Given the description of an element on the screen output the (x, y) to click on. 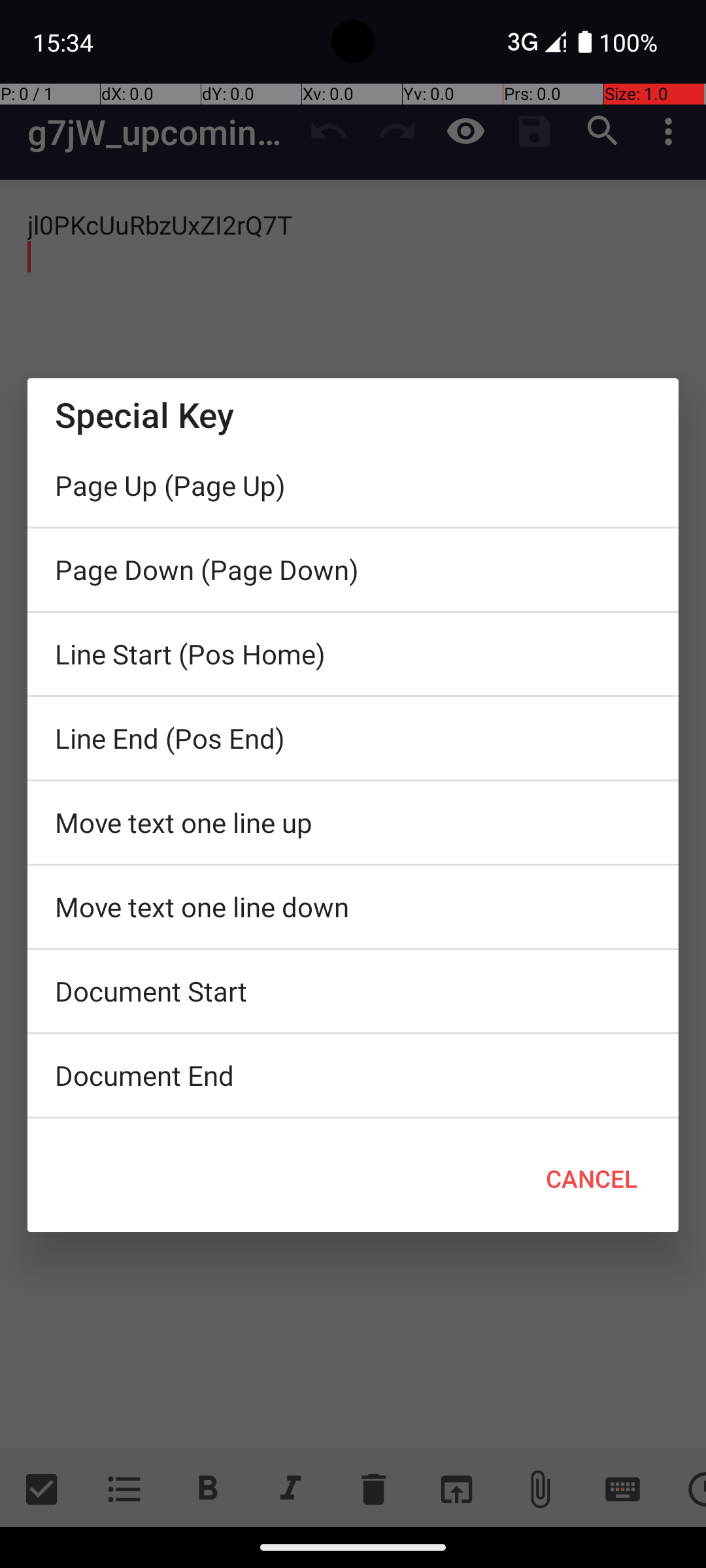
Page Up (Page Up) Element type: android.widget.TextView (352, 485)
Page Down (Page Down) Element type: android.widget.TextView (352, 569)
Line Start (Pos Home) Element type: android.widget.TextView (352, 653)
Line End (Pos End) Element type: android.widget.TextView (352, 738)
Move text one line up Element type: android.widget.TextView (352, 822)
Move text one line down Element type: android.widget.TextView (352, 906)
Document Start Element type: android.widget.TextView (352, 990)
Document End Element type: android.widget.TextView (352, 1075)
Select all (Ctrl+A) Element type: android.widget.TextView (352, 1121)
